Given the description of an element on the screen output the (x, y) to click on. 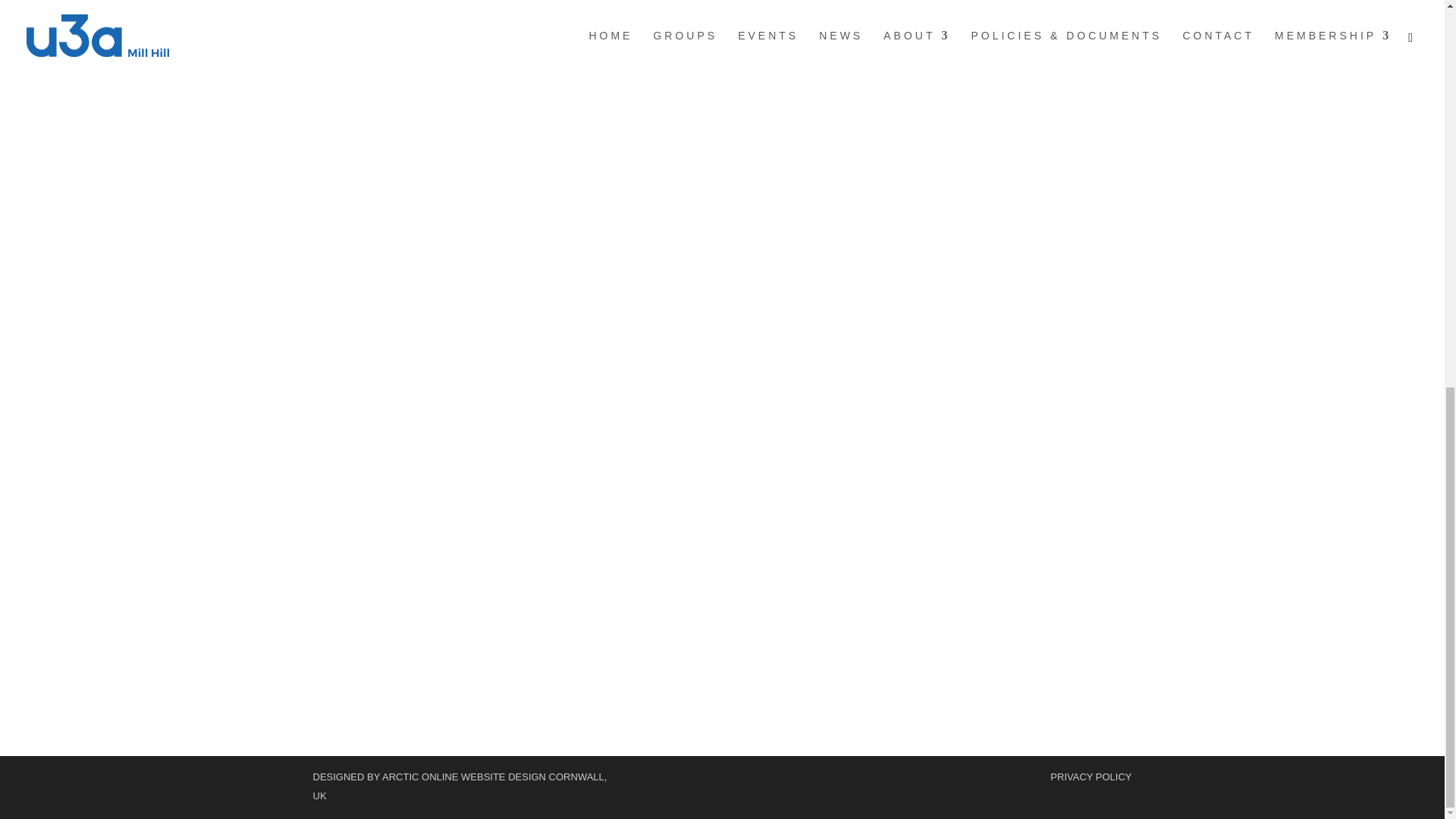
PRIVACY POLICY (1090, 776)
ARCTIC ONLINE WEBSITE DESIGN CORNWALL, UK (460, 786)
